Given the description of an element on the screen output the (x, y) to click on. 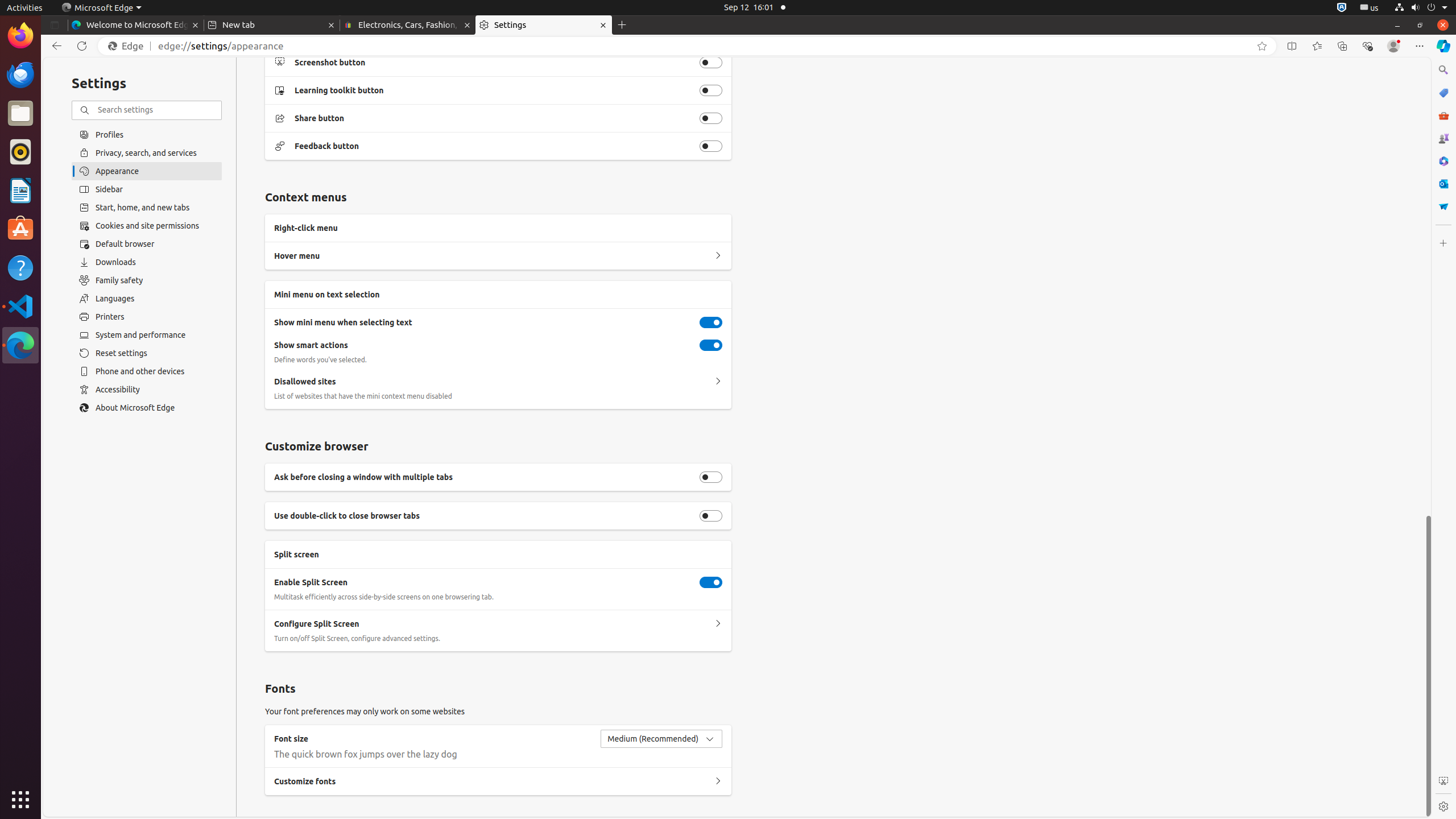
Visual Studio Code Element type: push-button (20, 306)
Screenshot Element type: push-button (1443, 780)
Use double-click to close browser tabs Element type: check-box (710, 515)
Collections Element type: push-button (1341, 45)
Back Element type: push-button (54, 45)
